Given the description of an element on the screen output the (x, y) to click on. 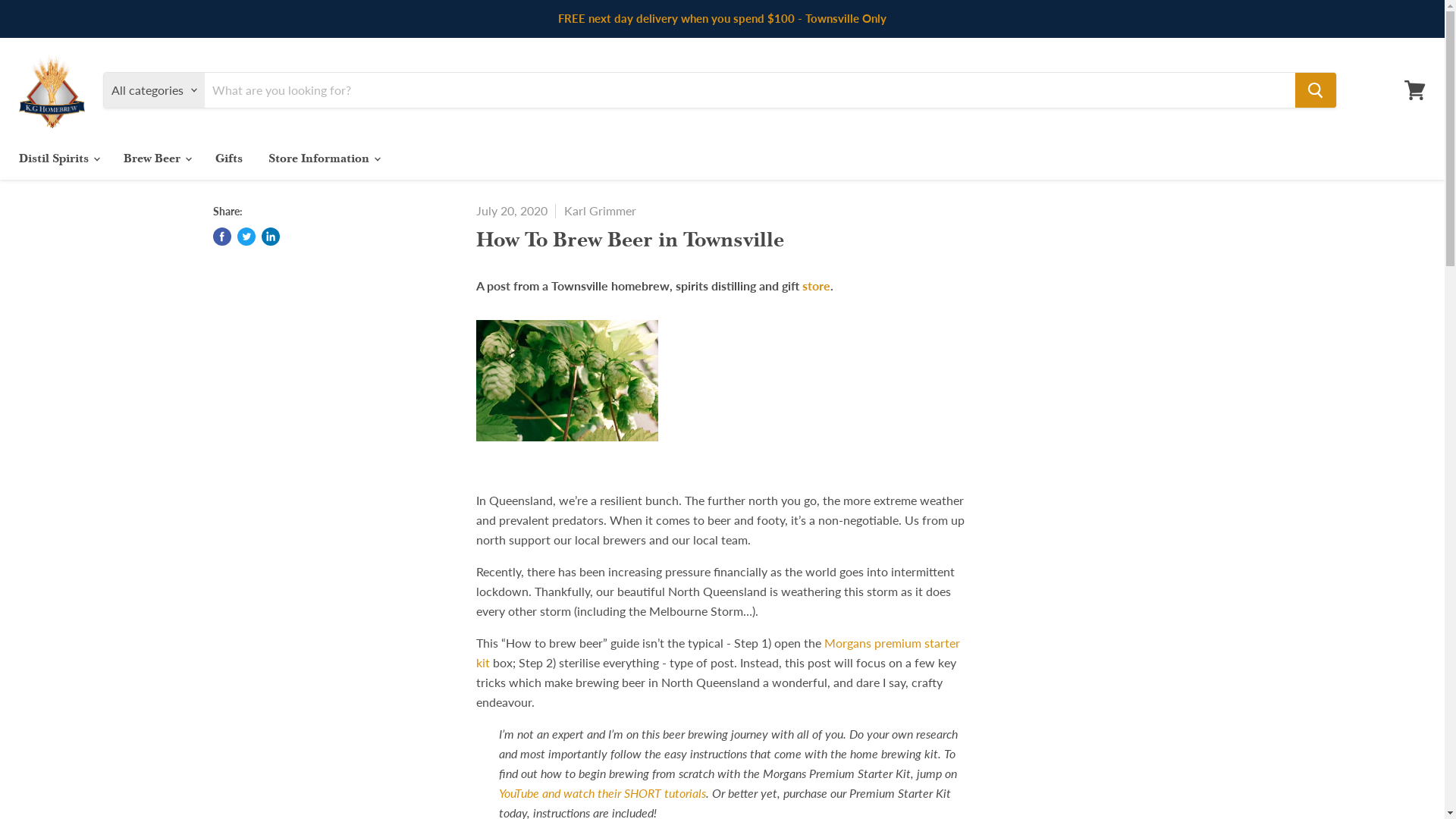
Tweet on Twitter Element type: text (245, 236)
Store Information Element type: text (323, 157)
Brew Beer Element type: text (156, 157)
Distil Spirits Element type: text (58, 157)
store Element type: text (816, 285)
Share on LinkedIn Element type: text (269, 236)
Share on Facebook Element type: text (221, 236)
View cart Element type: text (1414, 89)
YouTube and watch their SHORT tutorials Element type: text (602, 792)
Morgans premium starter kit Element type: text (718, 652)
Gifts Element type: text (228, 157)
